Given the description of an element on the screen output the (x, y) to click on. 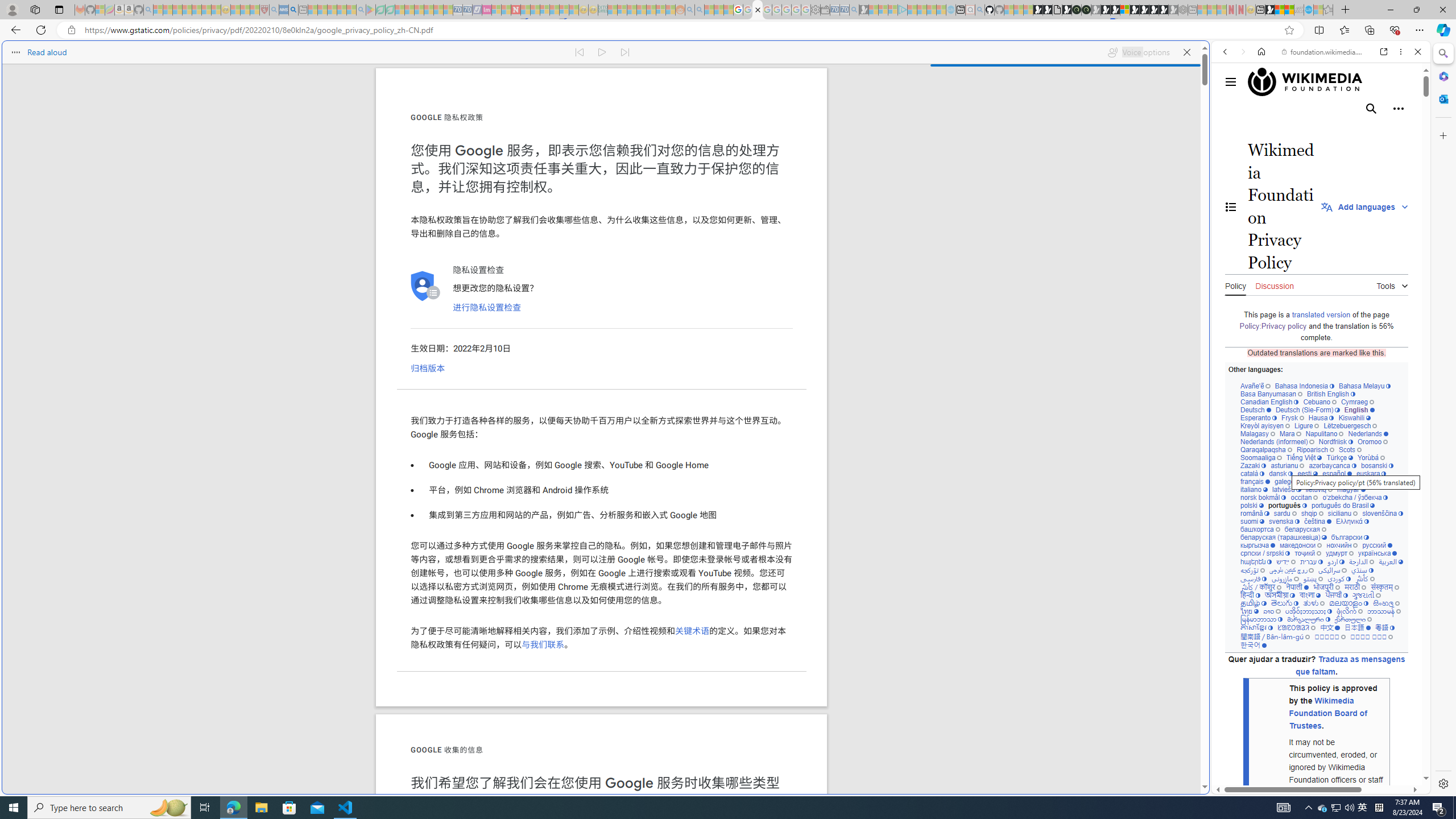
sicilianu (1342, 513)
World - MSN (727, 389)
dansk (1280, 473)
